Given the description of an element on the screen output the (x, y) to click on. 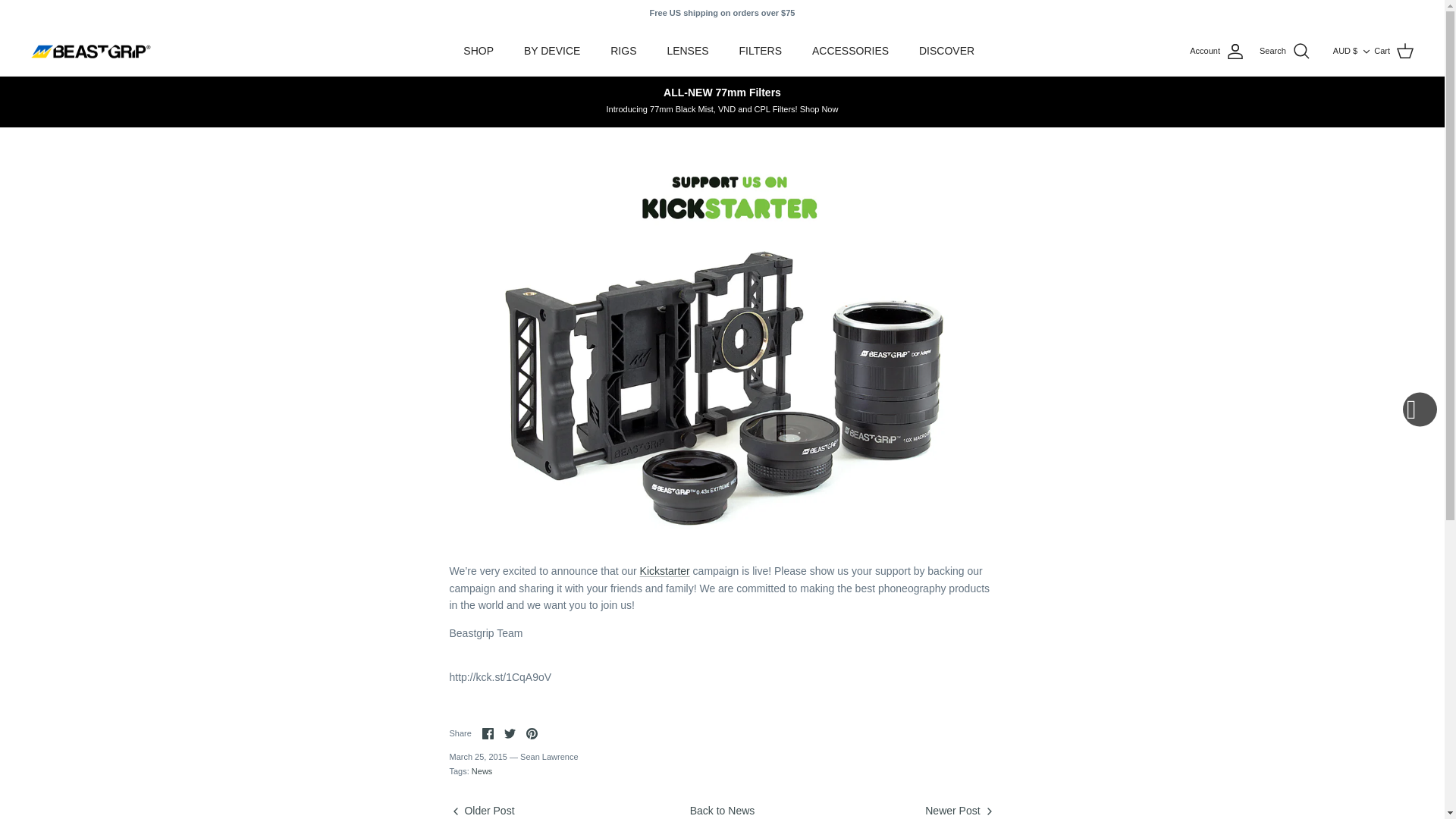
Beastgrip Pro kickstarter campaign  (665, 571)
ACCESSORIES (849, 51)
BY DEVICE (552, 51)
BEASTGRIP CO (90, 51)
Twitter (509, 733)
Search (1284, 51)
Left (454, 811)
Facebook (487, 733)
LENSES (687, 51)
Show articles tagged News (482, 770)
